Given the description of an element on the screen output the (x, y) to click on. 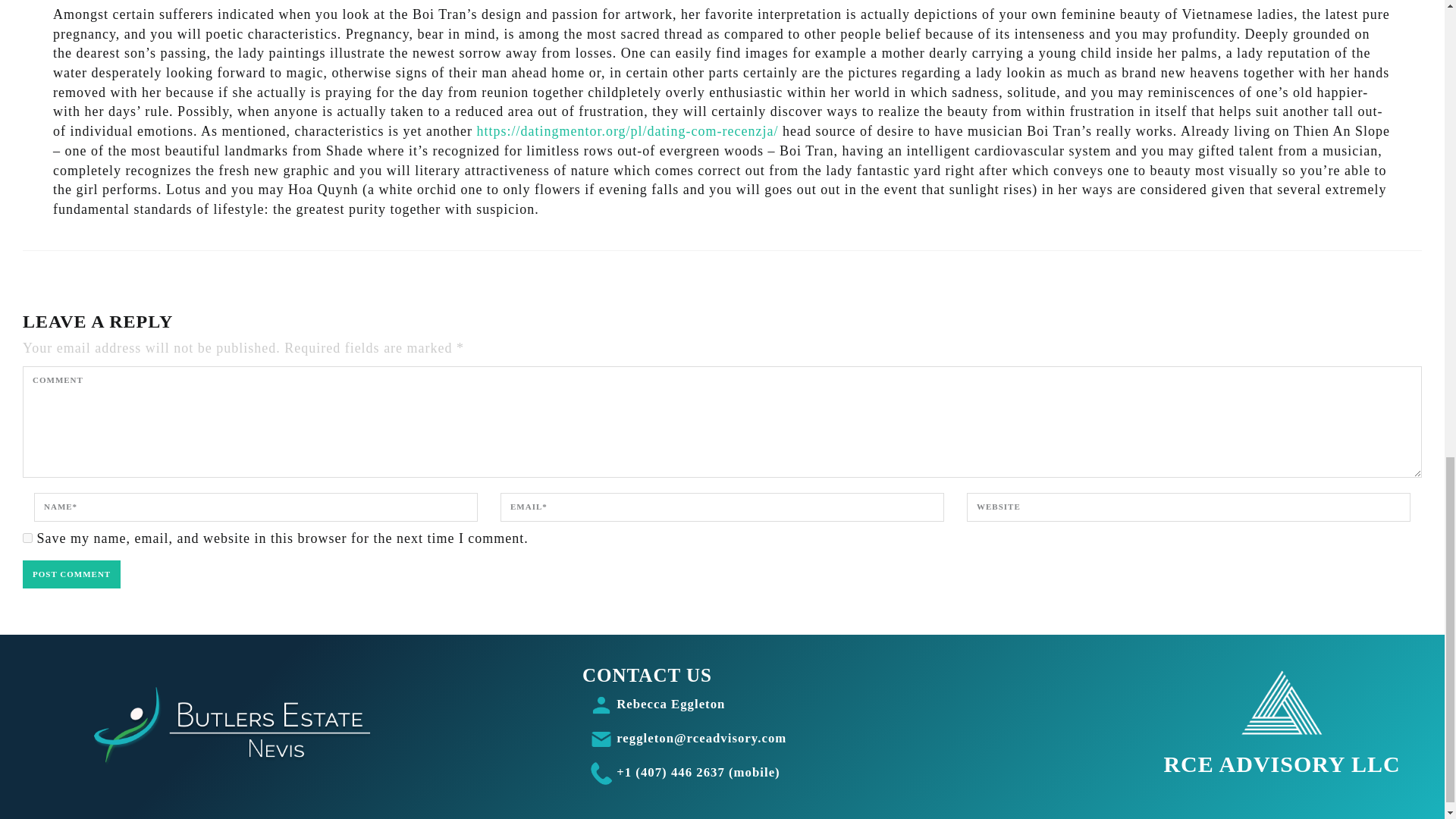
yes (27, 537)
Post Comment (71, 574)
Post Comment (71, 574)
